Given the description of an element on the screen output the (x, y) to click on. 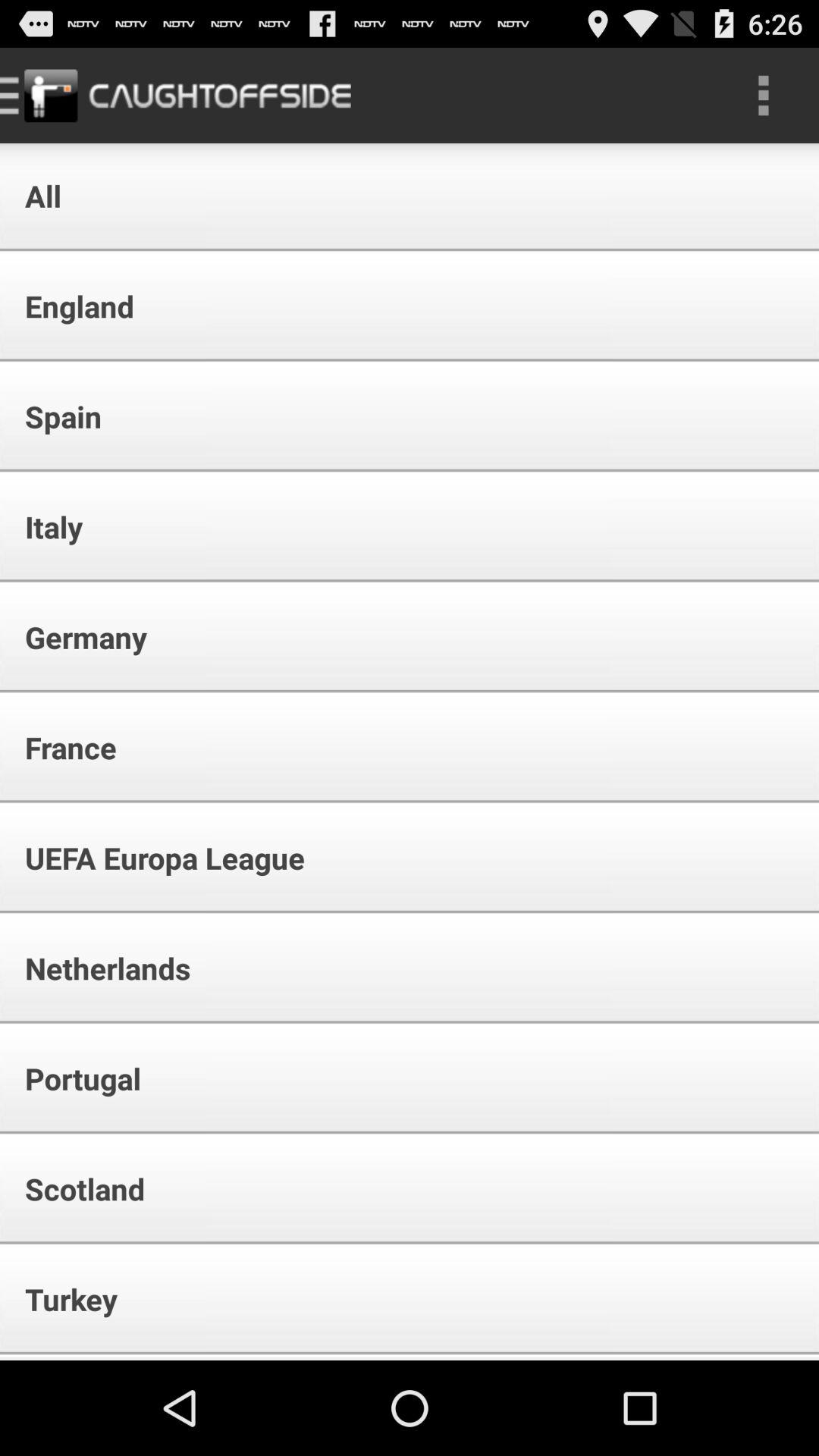
turn off app above the netherlands icon (154, 857)
